Given the description of an element on the screen output the (x, y) to click on. 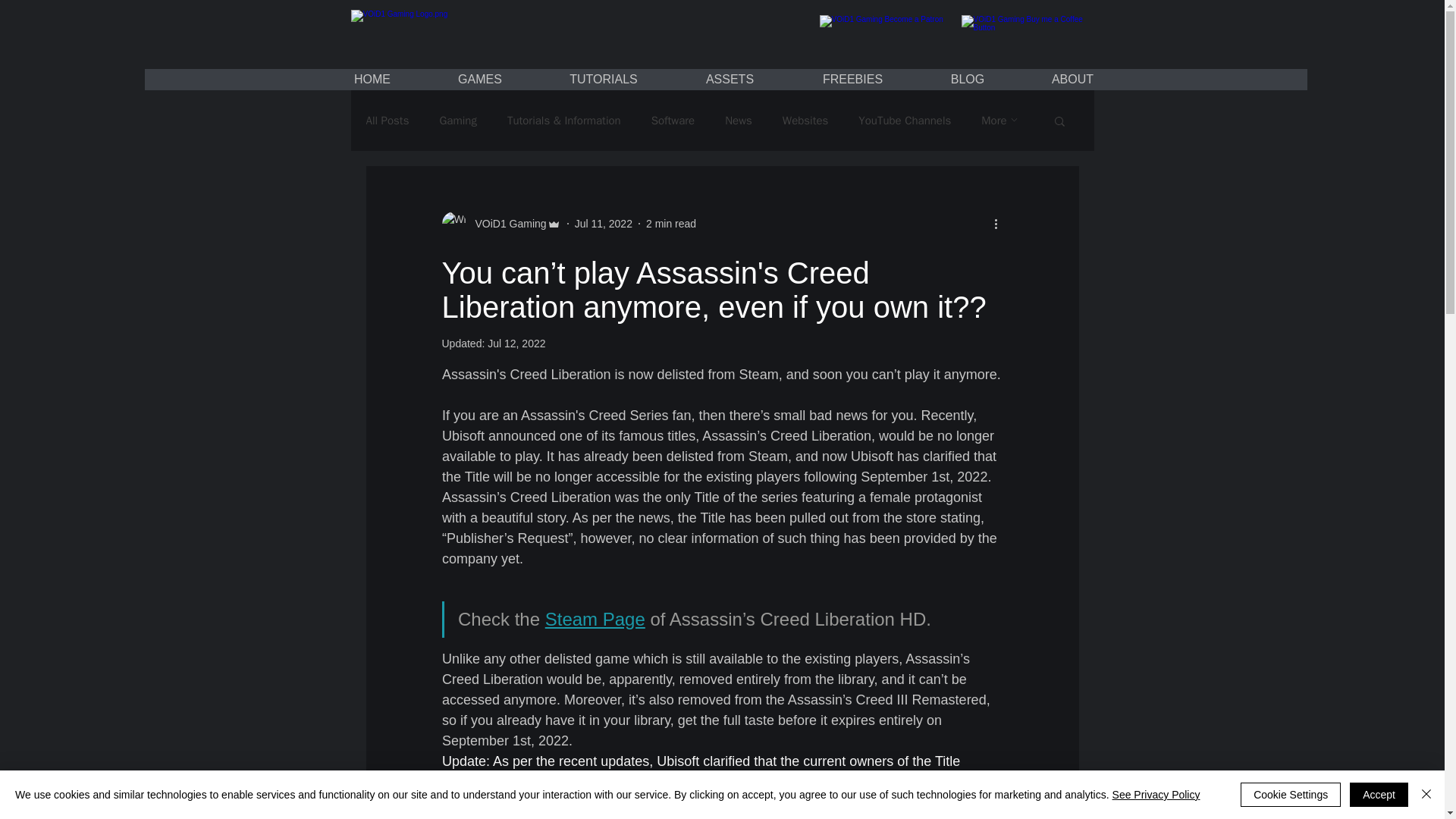
Donate us on Buy me a Coffee (1028, 31)
HOME (371, 79)
Software (672, 120)
GAMES (480, 79)
Websites (805, 120)
TUTORIALS (603, 79)
FREEBIES (853, 79)
Gaming (457, 120)
VOiD1 Gaming Logo (410, 31)
Jul 12, 2022 (515, 343)
